Given the description of an element on the screen output the (x, y) to click on. 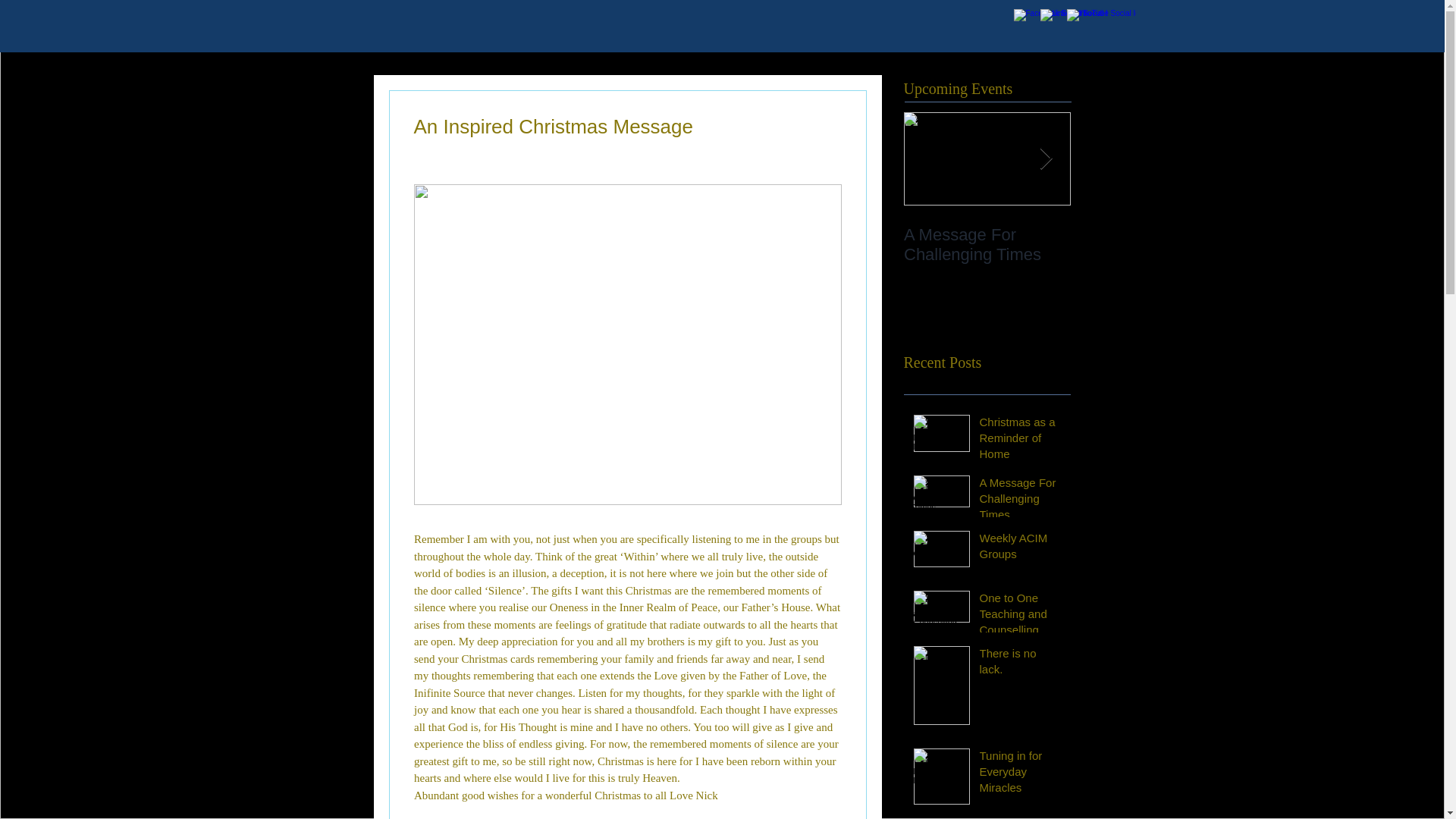
Weekly ACIM Groups (1020, 548)
A Message For Challenging Times (1020, 501)
Christmas as a Reminder of Home (1020, 440)
Weekly ACIM Groups (1153, 234)
There is no lack. (1020, 664)
Tuning in for Everyday Miracles (1020, 774)
One to One Teaching and Counselling Sessions with Nick Davis (1020, 632)
A Message For Challenging Times (987, 244)
